Given the description of an element on the screen output the (x, y) to click on. 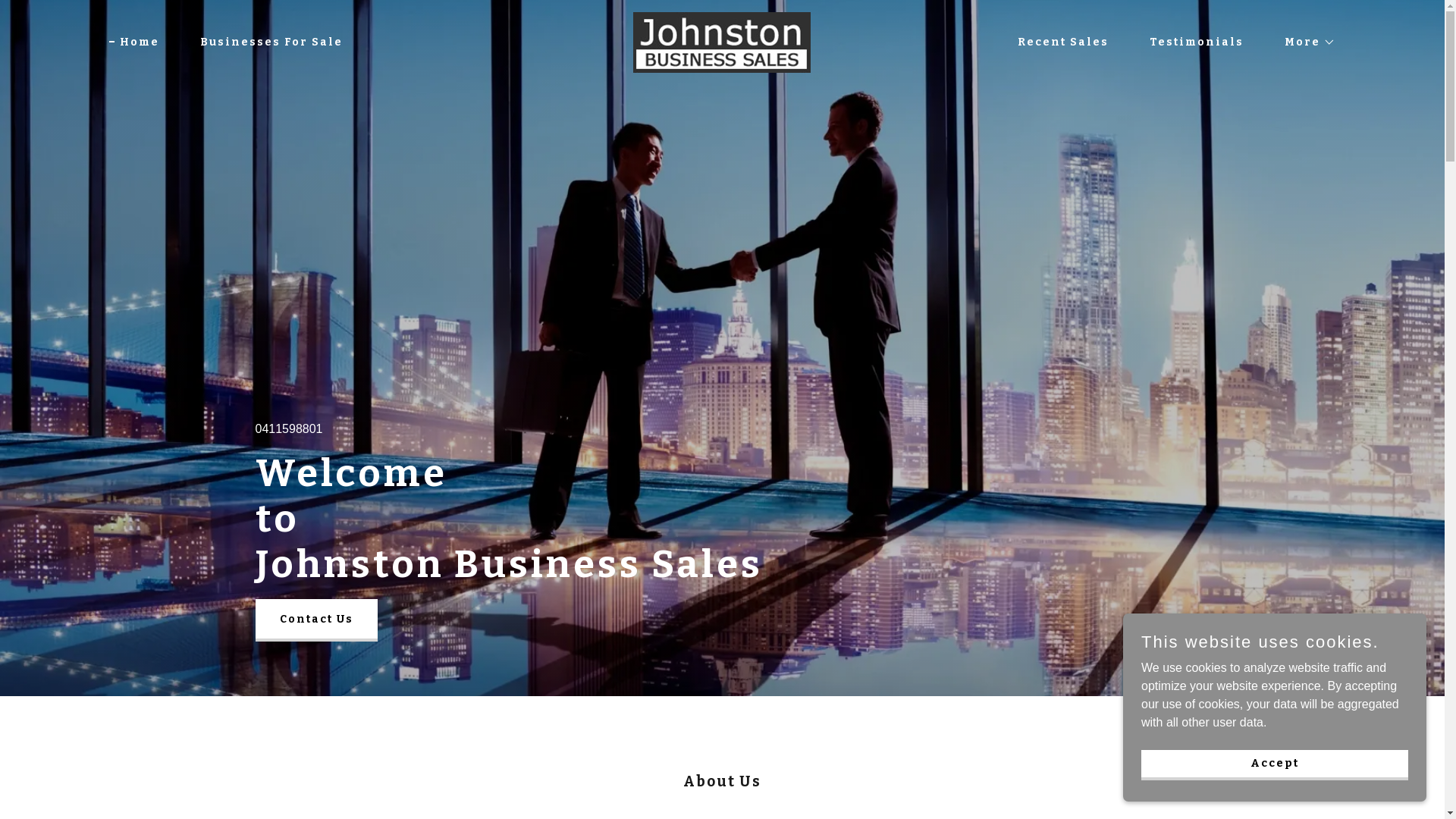
Contact Us Element type: text (315, 620)
Businesses For Sale Element type: text (266, 42)
More Element type: text (1304, 42)
Home Element type: text (134, 42)
Johnston Business Sales Pty Ltd Element type: hover (721, 40)
0411598801 Element type: text (288, 428)
Accept Element type: text (1274, 764)
Recent Sales Element type: text (1057, 42)
Testimonials Element type: text (1191, 42)
